Given the description of an element on the screen output the (x, y) to click on. 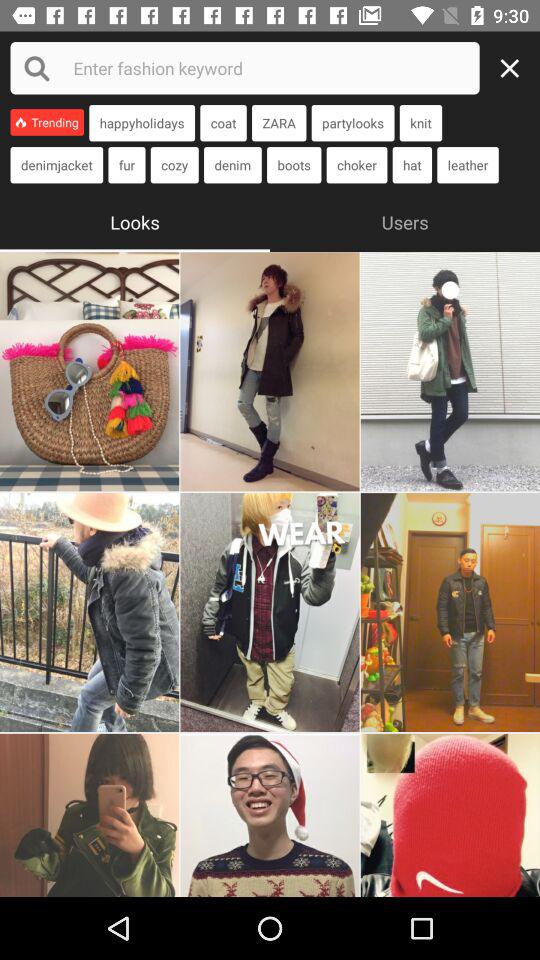
enlarge this photo (89, 815)
